Given the description of an element on the screen output the (x, y) to click on. 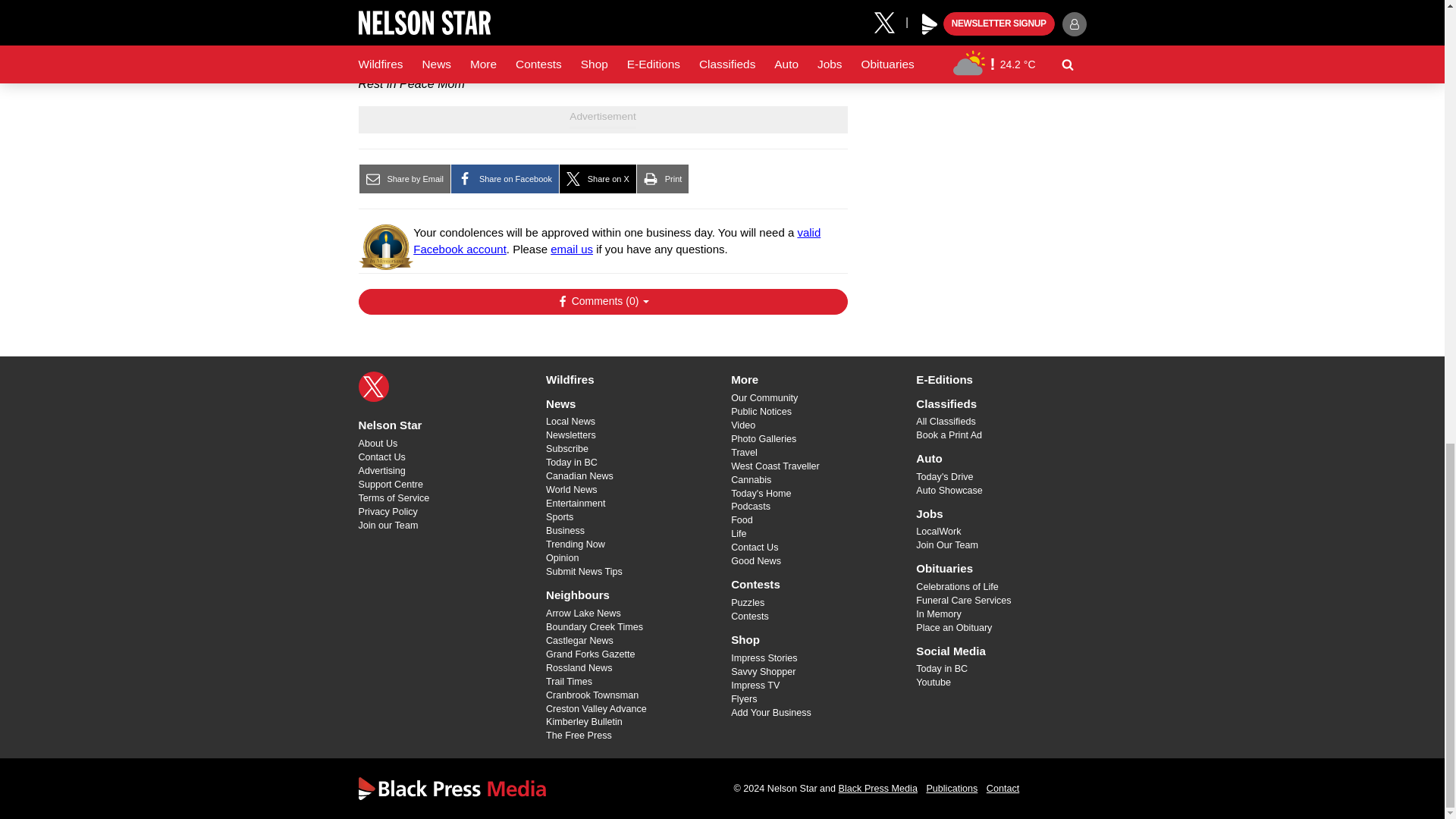
Show Comments (602, 301)
X (373, 386)
